Given the description of an element on the screen output the (x, y) to click on. 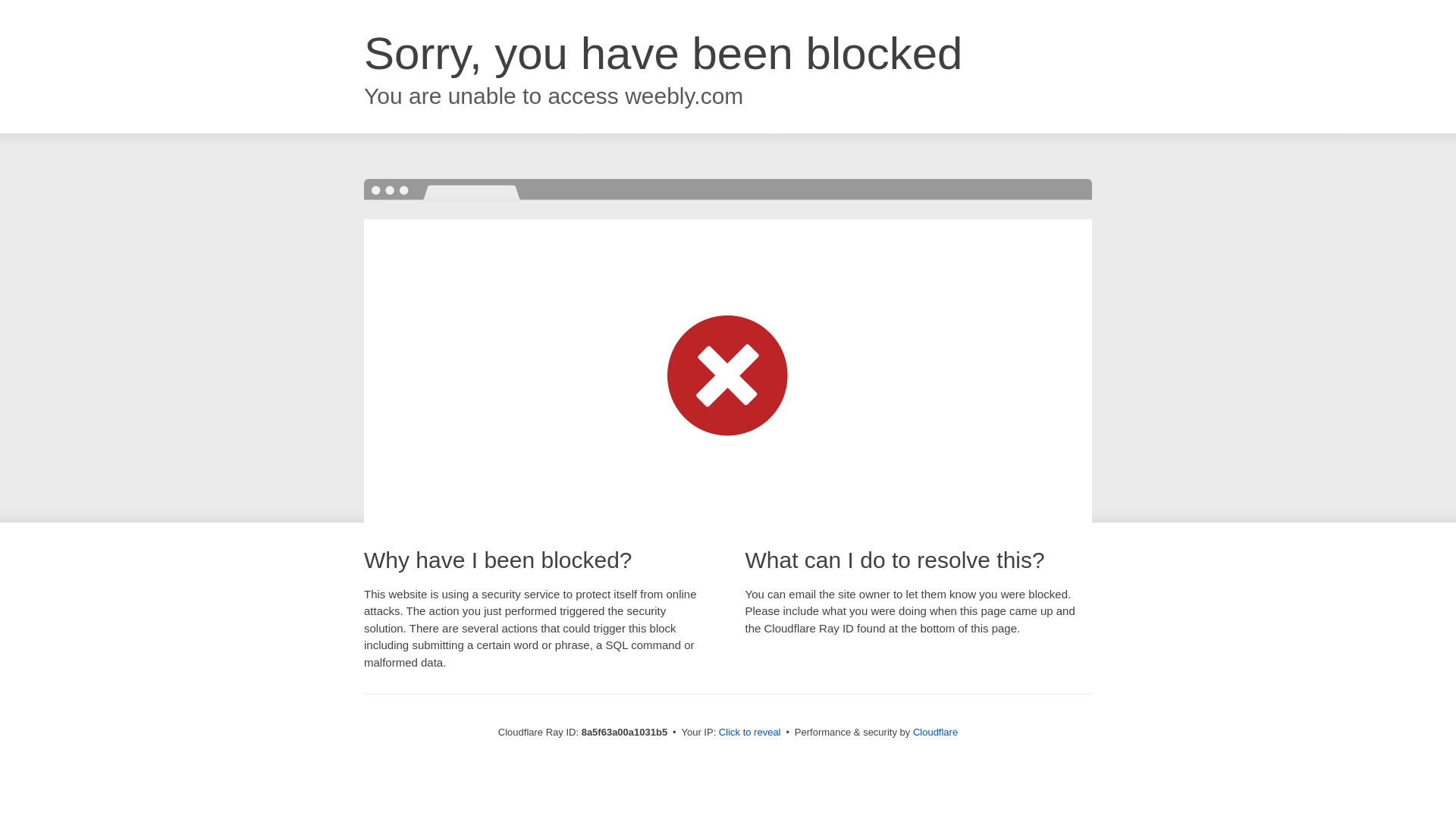
Click to reveal (749, 732)
Cloudflare (935, 731)
